Given the description of an element on the screen output the (x, y) to click on. 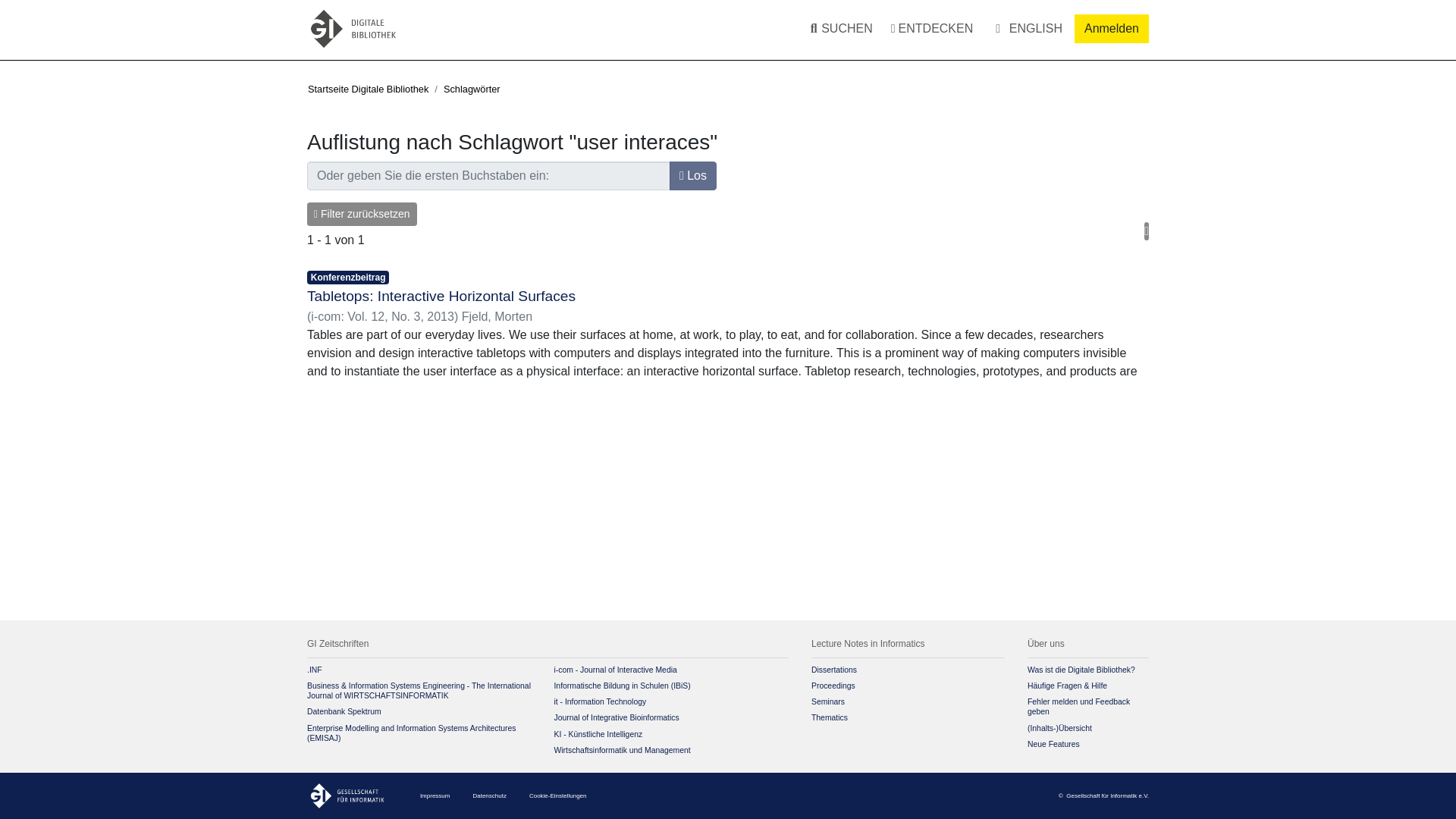
Was ist die Digitale Bibliothek? (1081, 669)
Suchen (827, 28)
Datenbank Spektrum (344, 711)
Proceedings (833, 685)
Los (692, 175)
Startseite Digitale Bibliothek (367, 89)
Journal of Integrative Bioinformatics (615, 717)
ENGLISH (1026, 28)
Sprache (1026, 28)
.INF (314, 669)
